Given the description of an element on the screen output the (x, y) to click on. 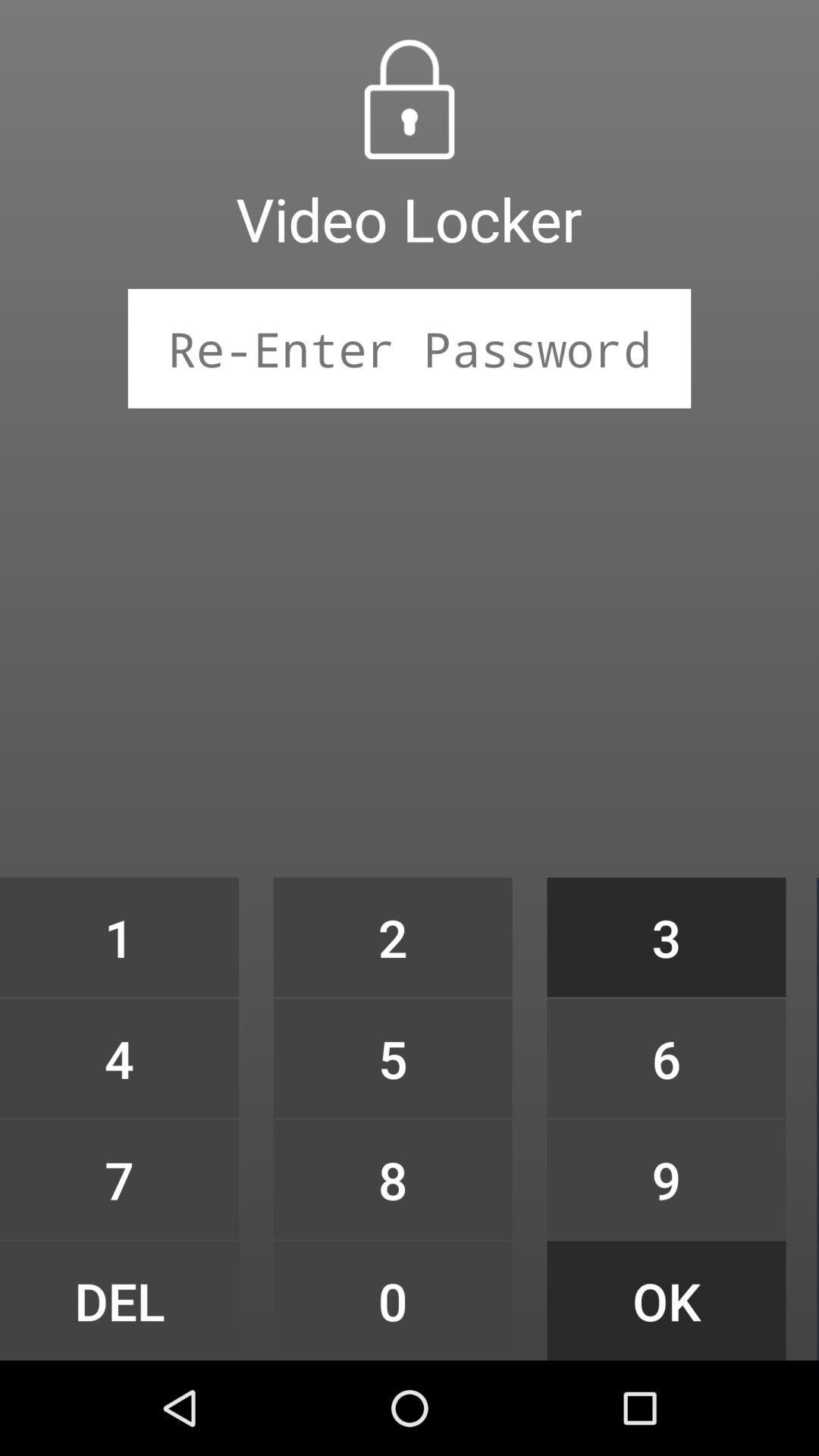
choose the icon to the right of the 8 item (666, 1300)
